Given the description of an element on the screen output the (x, y) to click on. 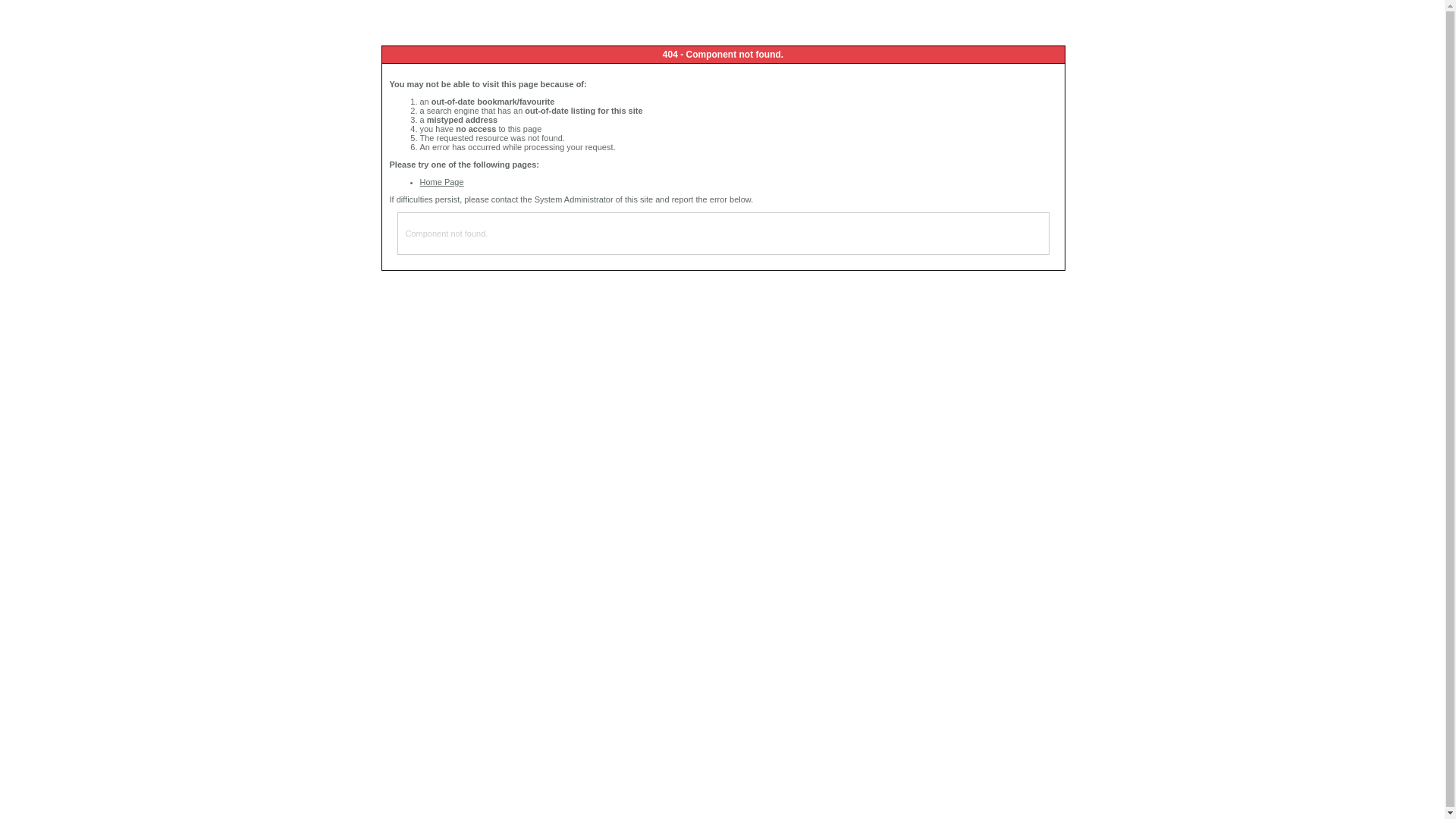
Home Page Element type: text (442, 181)
